Given the description of an element on the screen output the (x, y) to click on. 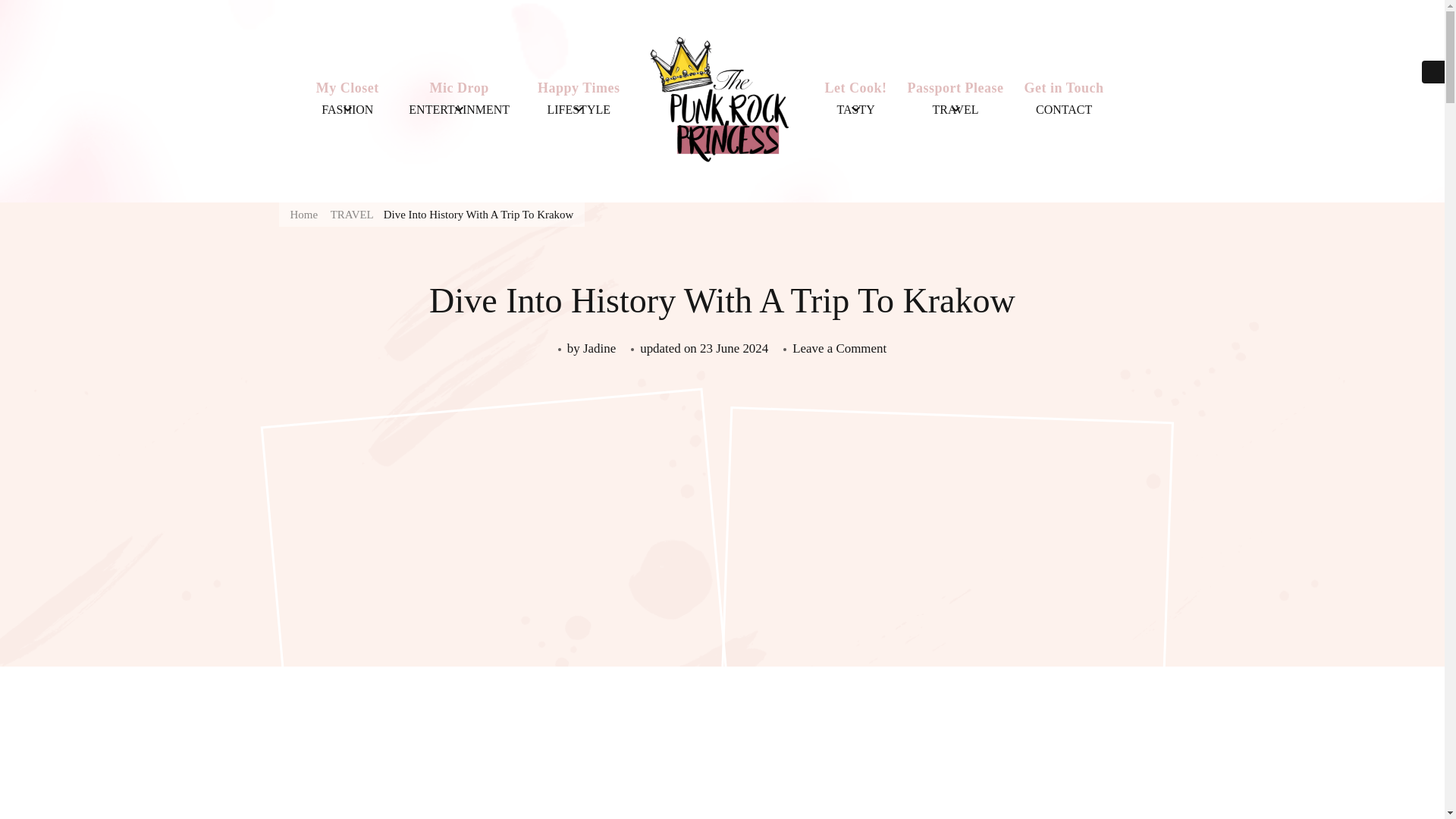
ENTERTAINMENT (458, 109)
LIFESTYLE (577, 109)
TASTY (855, 109)
CONTACT (1063, 109)
TRAVEL (955, 109)
FASHION (347, 109)
The Punk Rock Princess (959, 218)
